Given the description of an element on the screen output the (x, y) to click on. 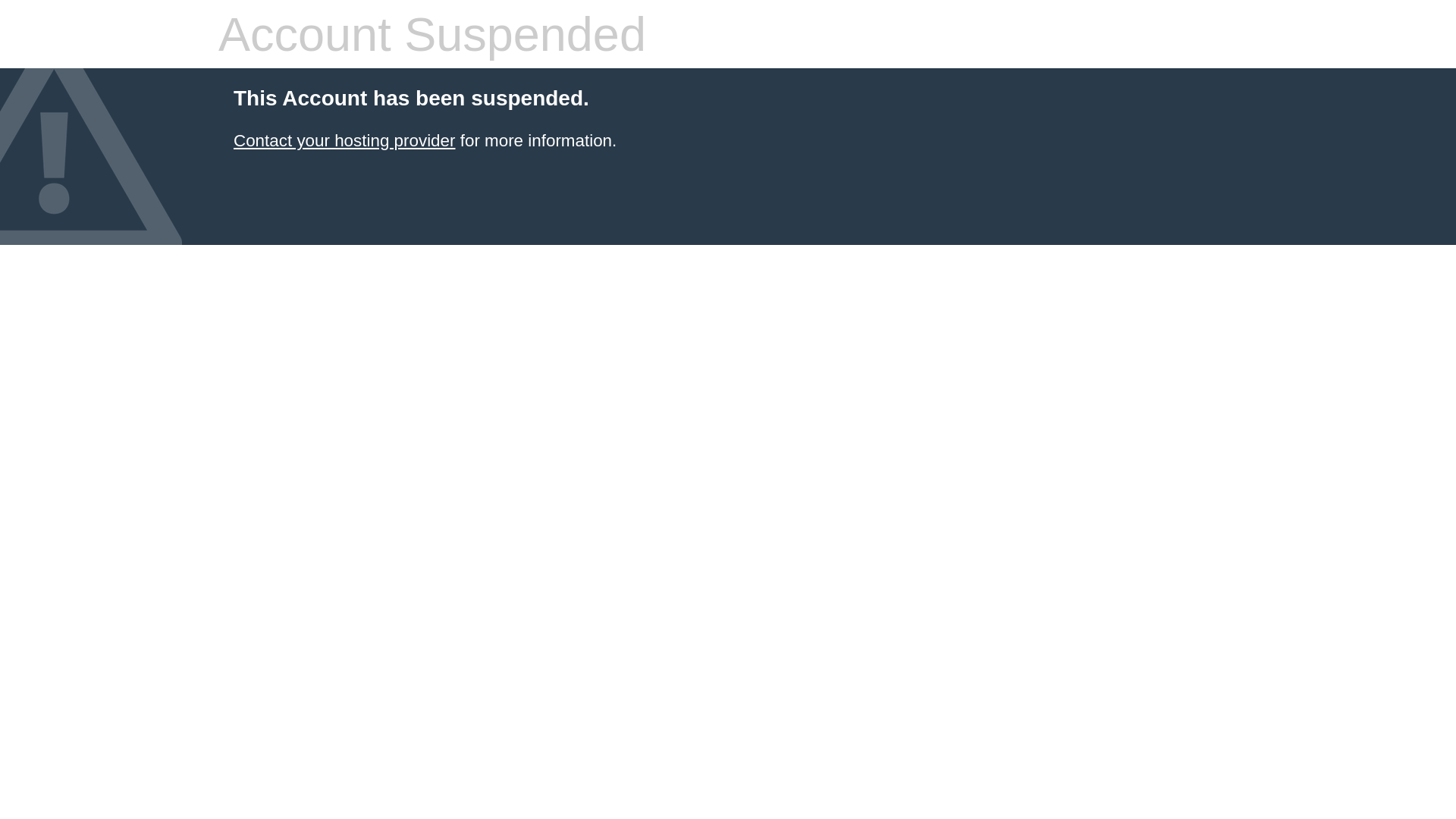
Contact your hosting provider Element type: text (344, 140)
